Given the description of an element on the screen output the (x, y) to click on. 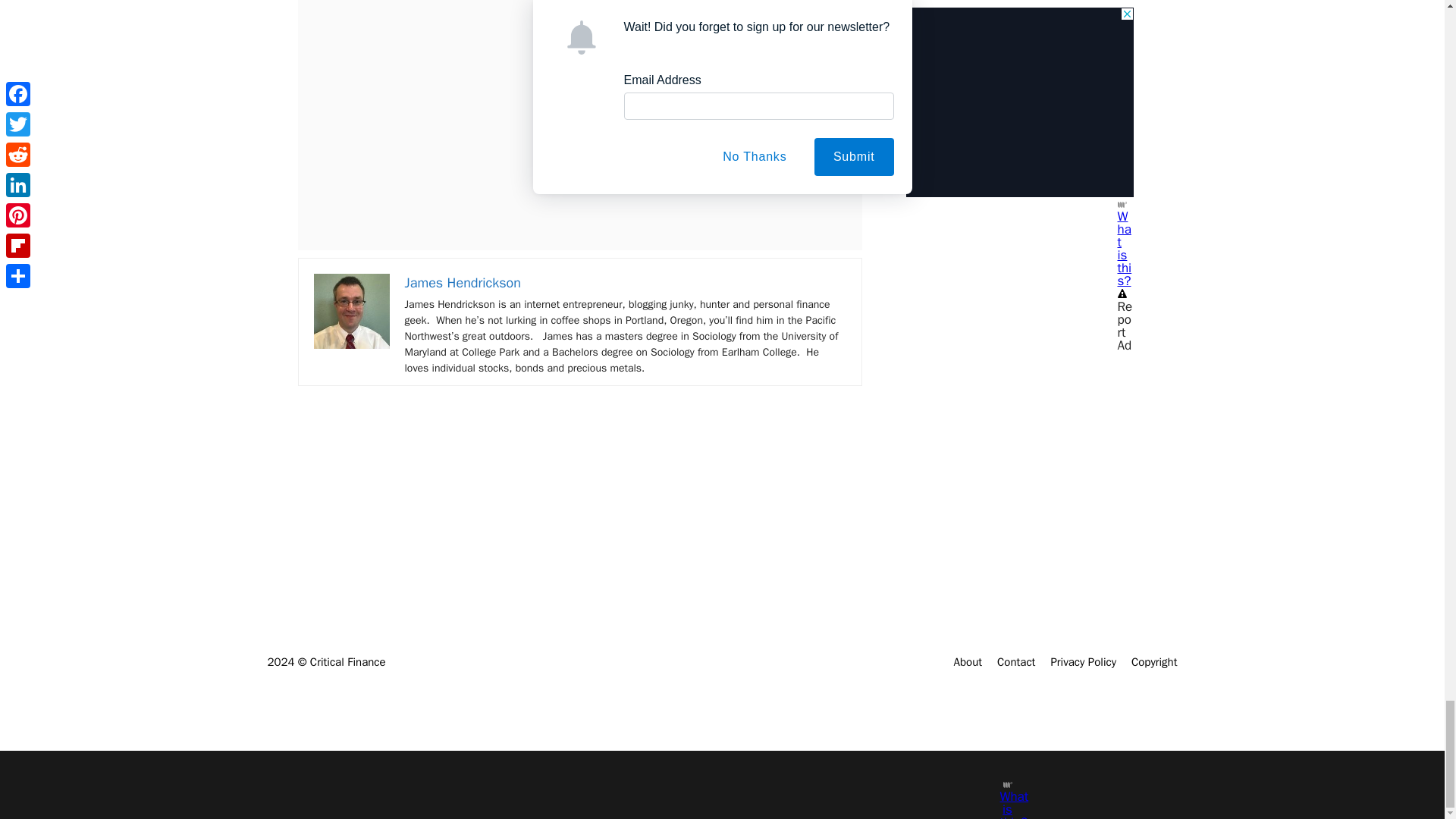
Copyright (1154, 662)
Privacy Policy (1082, 662)
Contact (1016, 662)
James Hendrickson (462, 282)
About (967, 662)
